Given the description of an element on the screen output the (x, y) to click on. 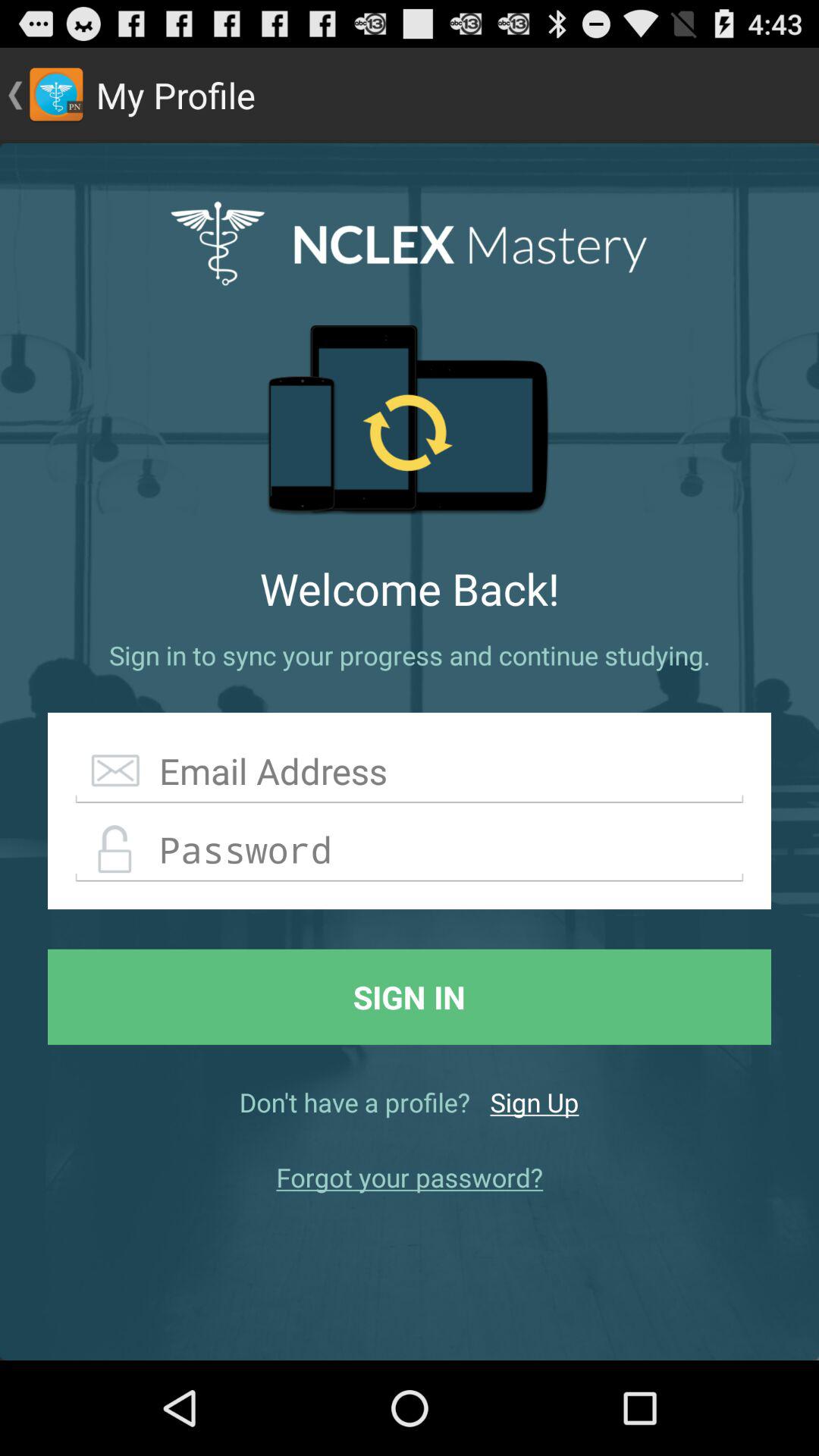
go to password (409, 850)
